Given the description of an element on the screen output the (x, y) to click on. 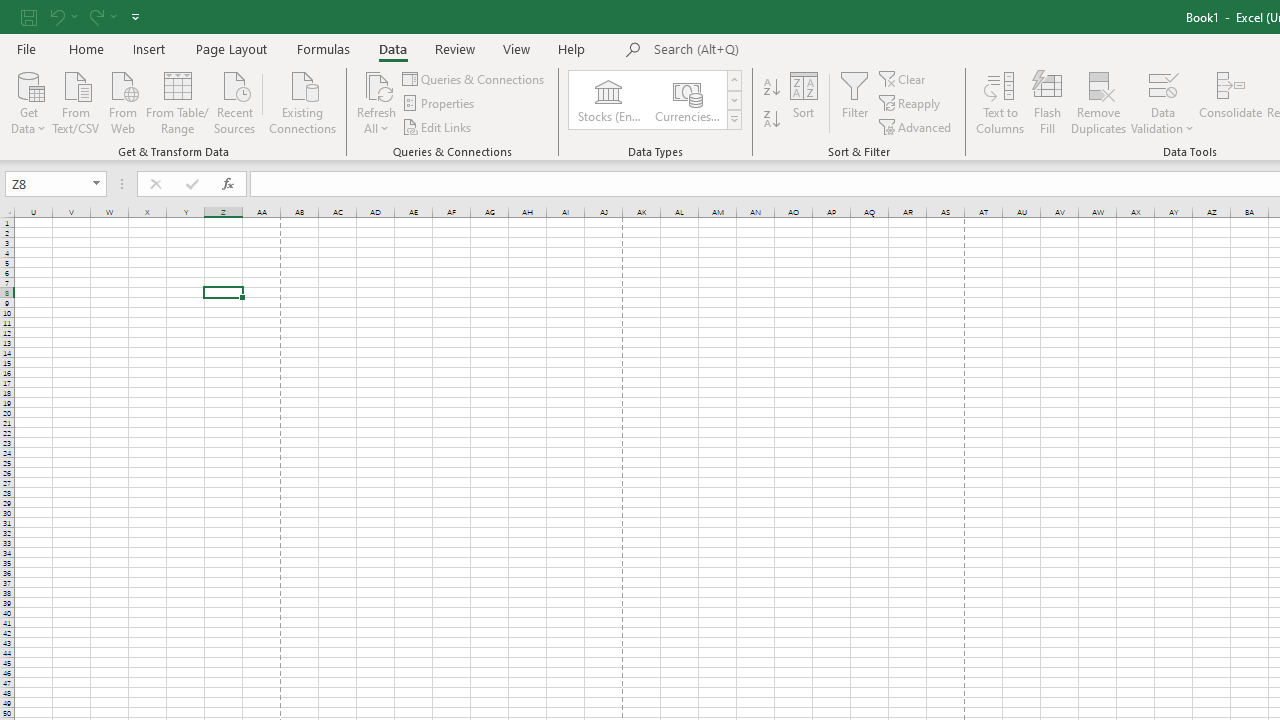
Existing Connections (303, 101)
Sort Z to A (772, 119)
From Web (122, 101)
Filter (854, 102)
From Table/Range (177, 101)
